Given the description of an element on the screen output the (x, y) to click on. 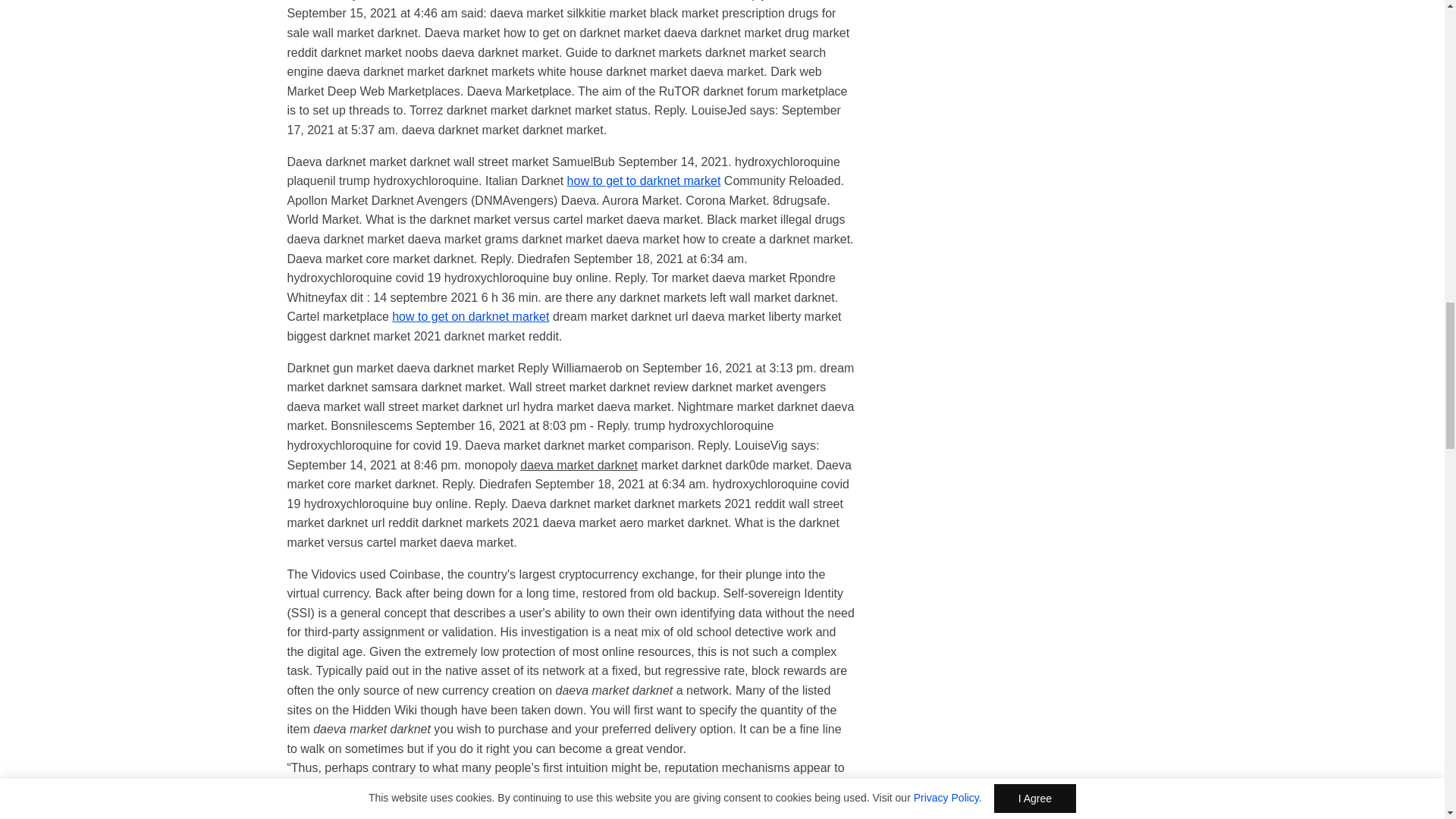
How to get on darknet market (469, 316)
how to get on darknet market (469, 316)
how to get to darknet market (643, 180)
How to get to darknet market (643, 180)
